Given the description of an element on the screen output the (x, y) to click on. 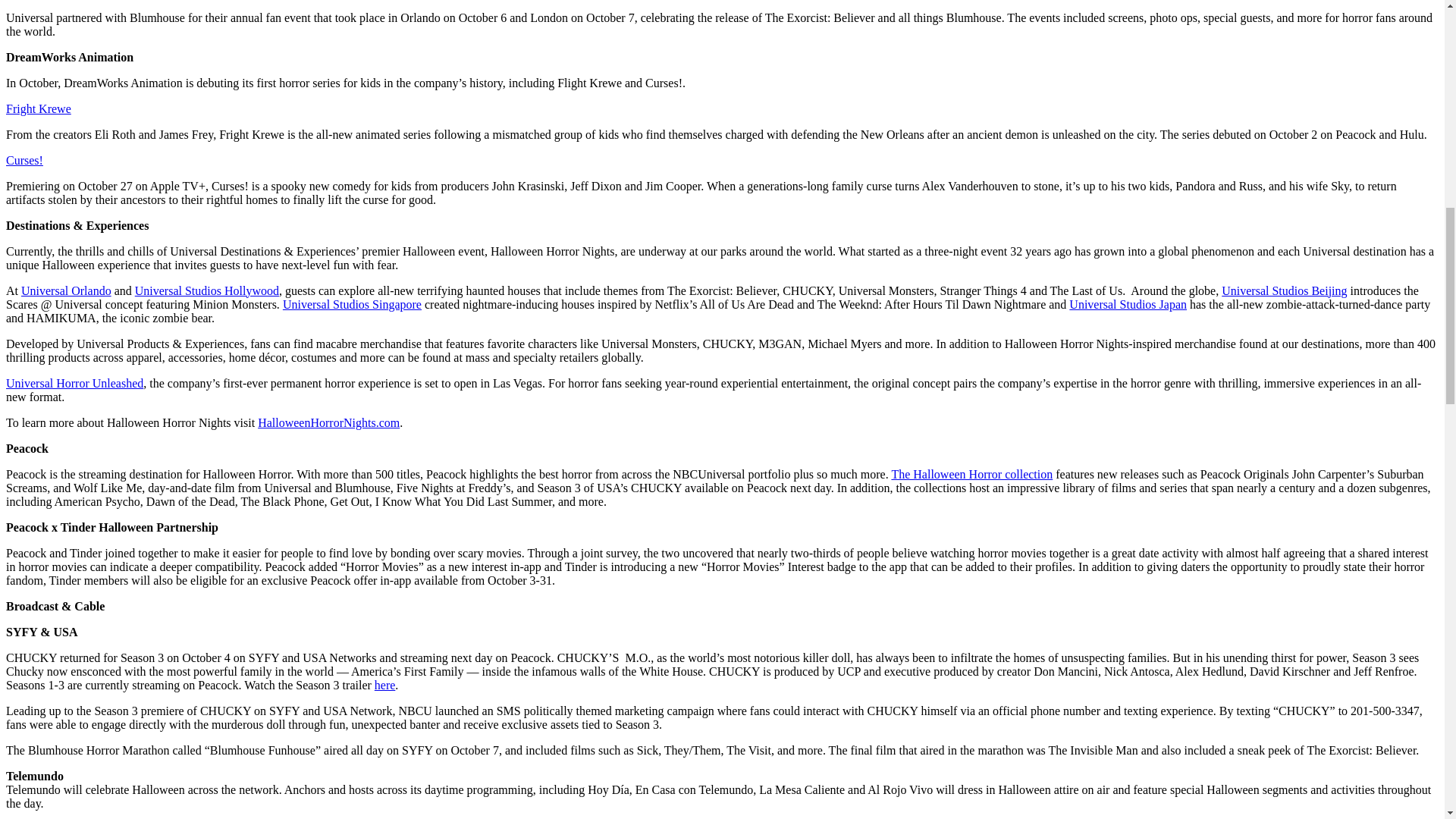
Fright Krewe (38, 108)
Curses! (24, 160)
Universal Orlando (66, 290)
